Given the description of an element on the screen output the (x, y) to click on. 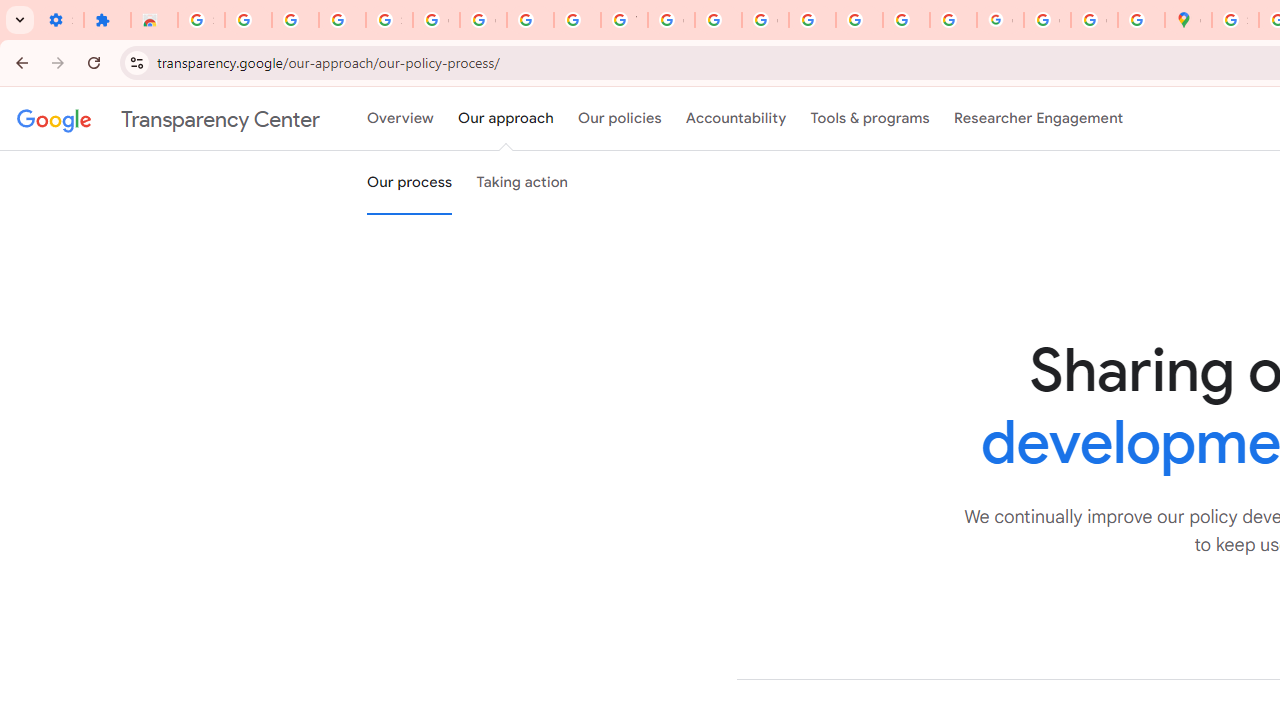
YouTube (623, 20)
Sign in - Google Accounts (389, 20)
Our process (409, 183)
Sign in - Google Accounts (201, 20)
Extensions (107, 20)
Taking action (522, 183)
